Given the description of an element on the screen output the (x, y) to click on. 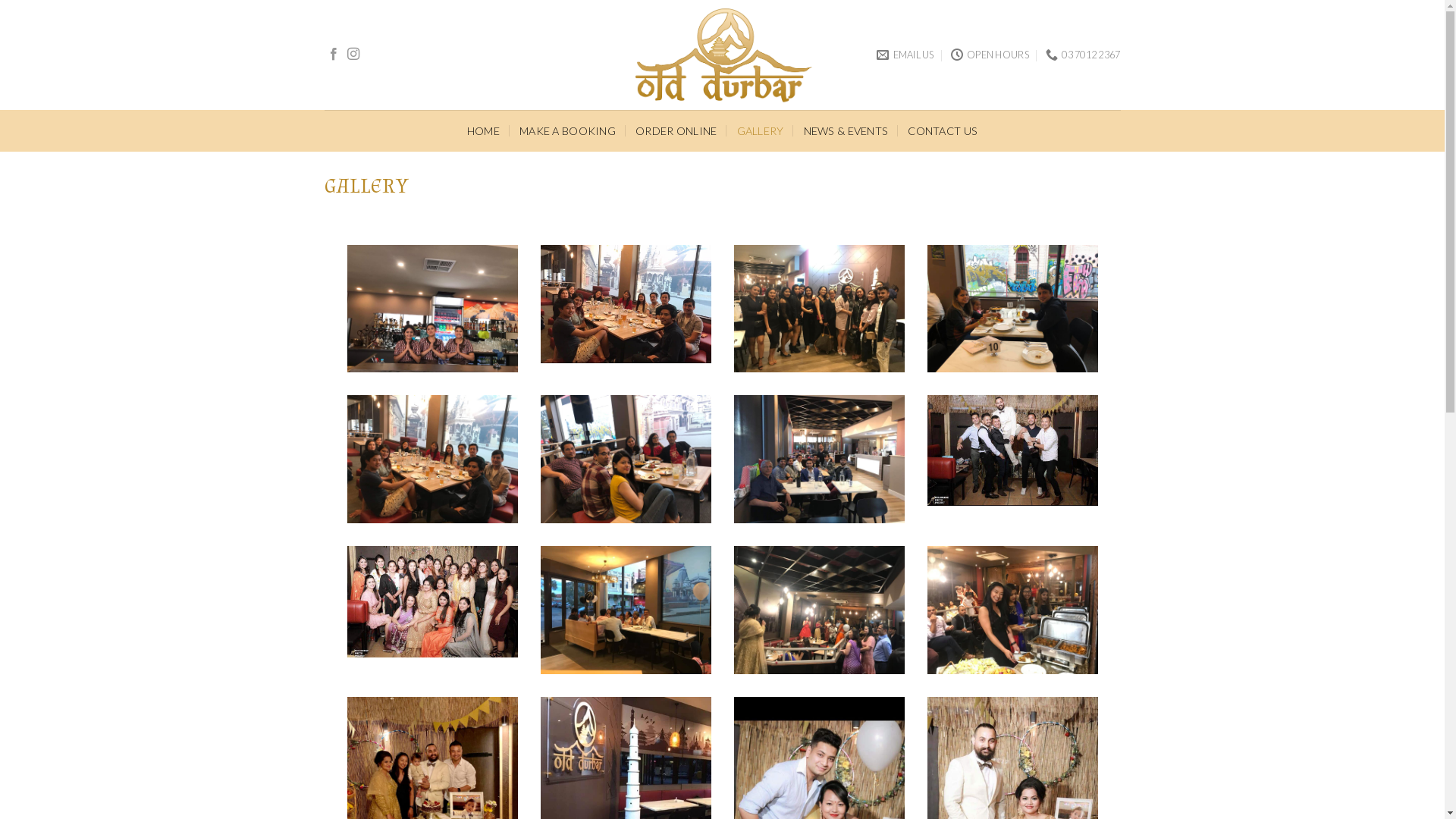
Follow on Instagram Element type: hover (353, 54)
Old Durbar Restaurant - Indian Restaurant in Brunswick Element type: hover (722, 54)
EMAIL US Element type: text (904, 54)
03 7012 2367 Element type: text (1082, 54)
ORDER ONLINE Element type: text (675, 130)
MAKE A BOOKING Element type: text (567, 130)
HOME Element type: text (483, 130)
OPEN HOURS Element type: text (989, 54)
CONTACT US Element type: text (942, 130)
GALLERY Element type: text (760, 130)
NEWS & EVENTS Element type: text (845, 130)
Follow on Facebook Element type: hover (333, 54)
